Given the description of an element on the screen output the (x, y) to click on. 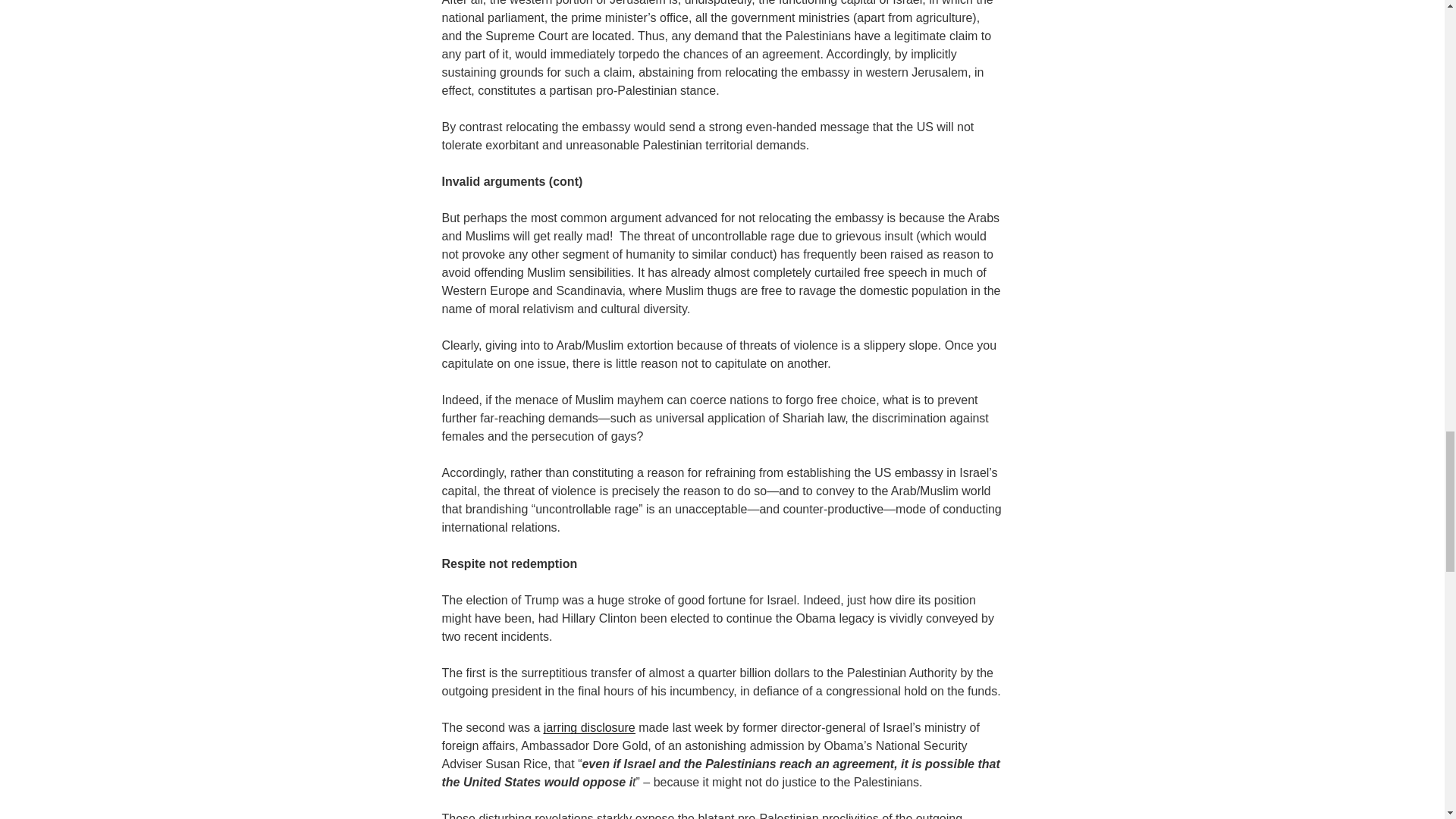
jarring disclosure (588, 726)
